Given the description of an element on the screen output the (x, y) to click on. 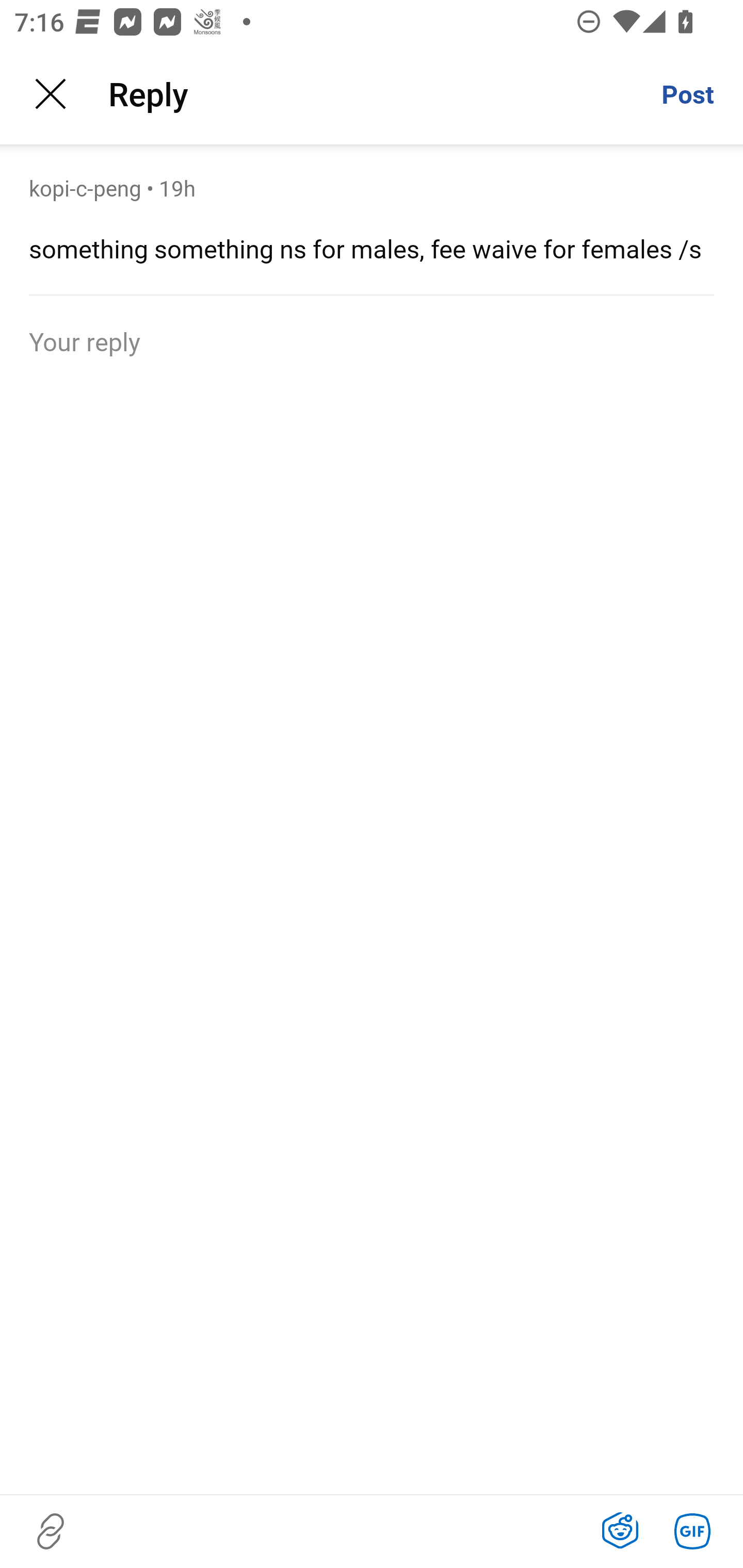
Close (50, 93)
Post (687, 94)
Your reply (371, 340)
Insert a link (50, 1530)
Show Expressions (619, 1530)
Search GIFs (692, 1530)
